Given the description of an element on the screen output the (x, y) to click on. 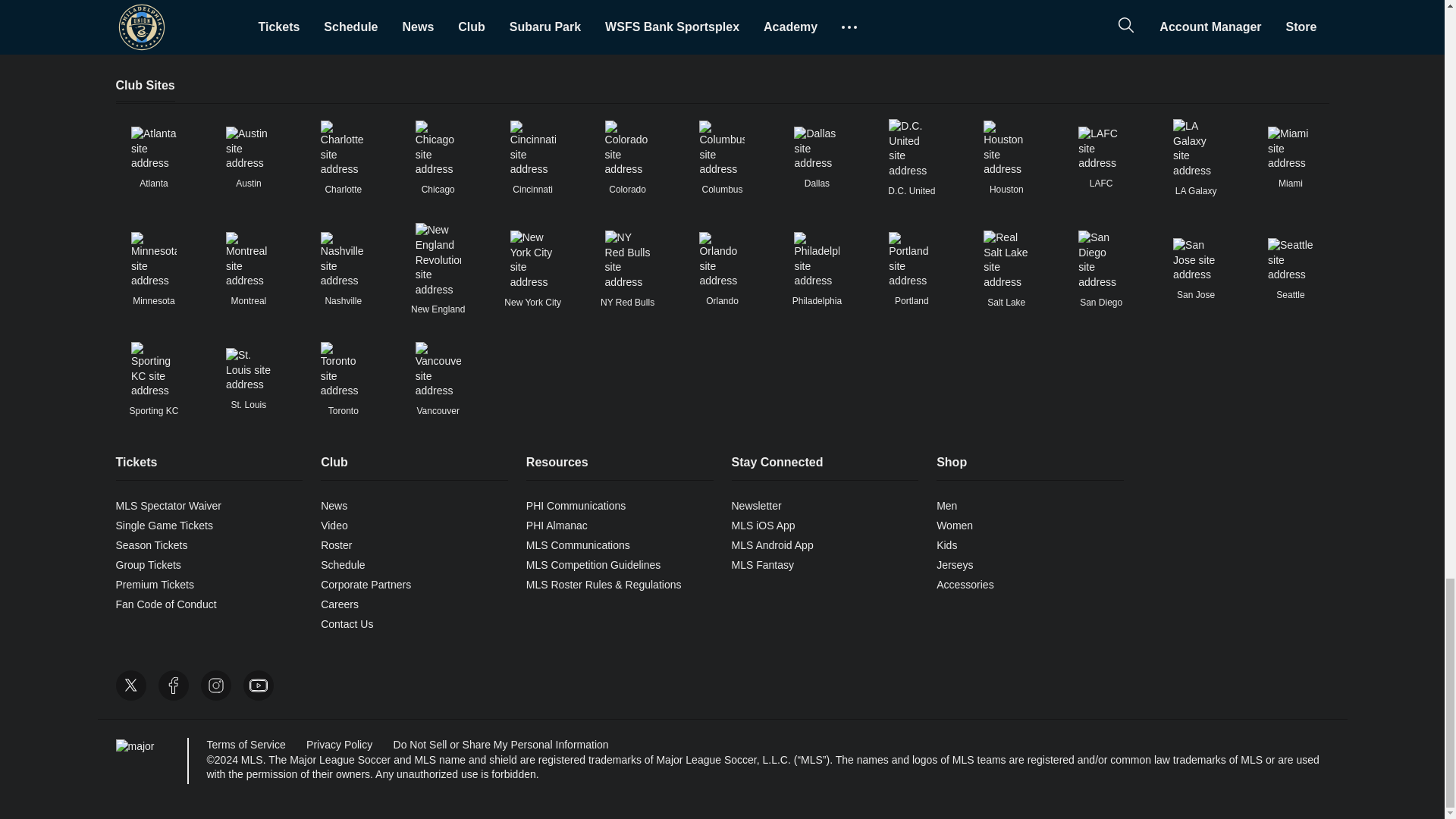
Link to Austin (247, 148)
Link to Atlanta (153, 148)
